Given the description of an element on the screen output the (x, y) to click on. 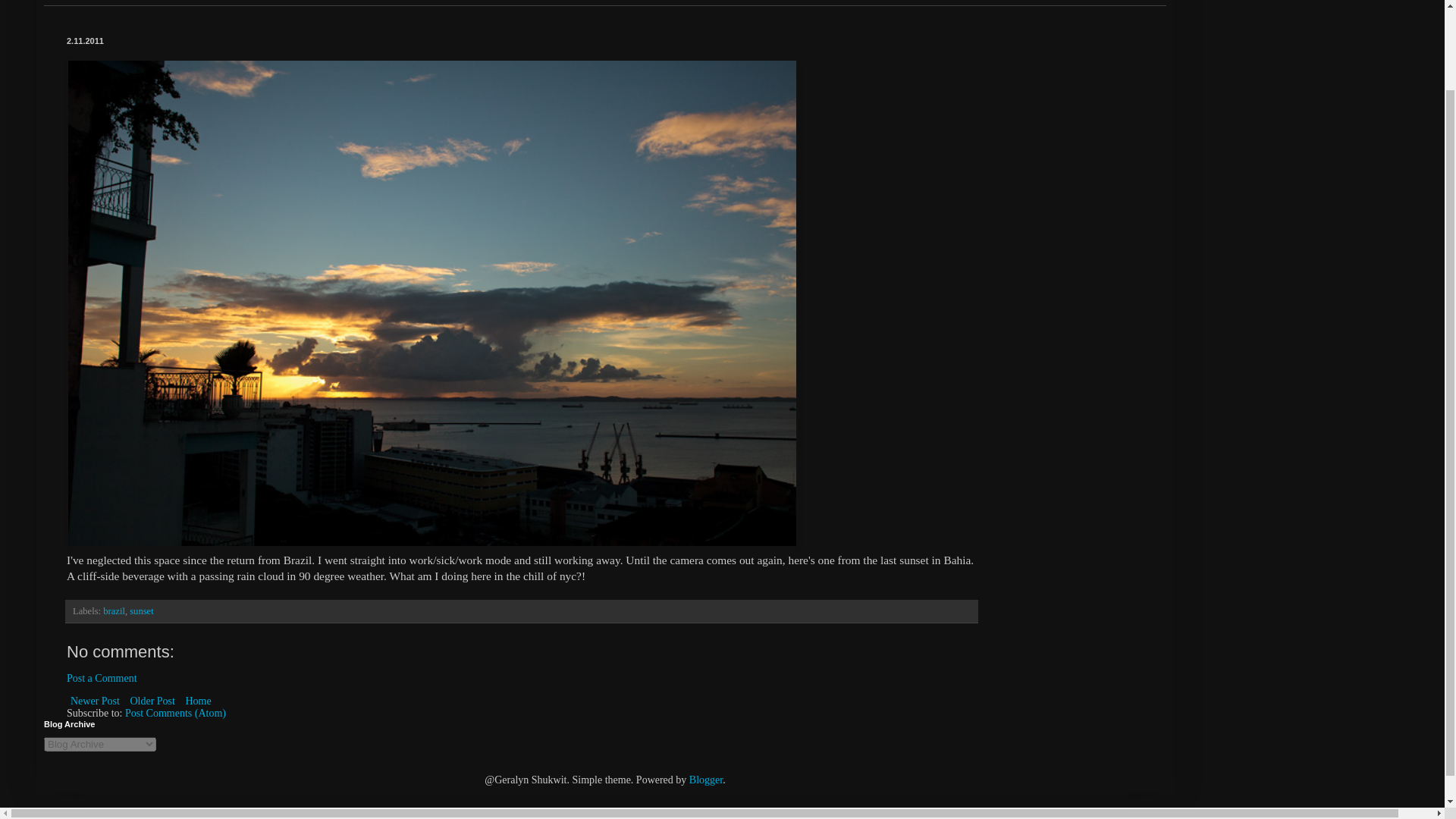
Newer Post (94, 700)
Older Post (152, 700)
Blogger (705, 779)
Newer Post (94, 700)
Home (197, 700)
sunset (140, 611)
Post a Comment (101, 677)
Older Post (152, 700)
brazil (114, 611)
